Given the description of an element on the screen output the (x, y) to click on. 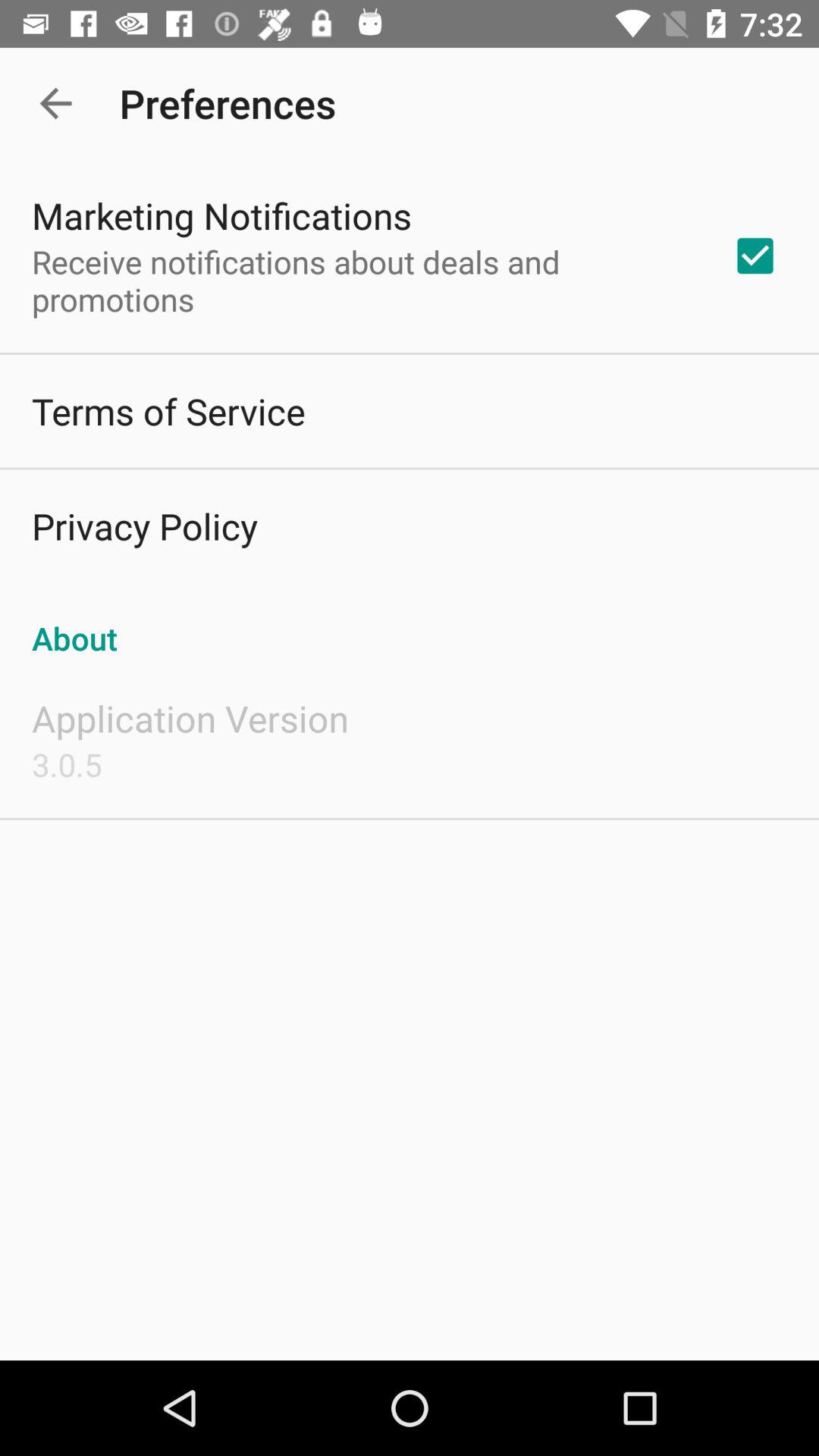
select item above marketing notifications (55, 103)
